Given the description of an element on the screen output the (x, y) to click on. 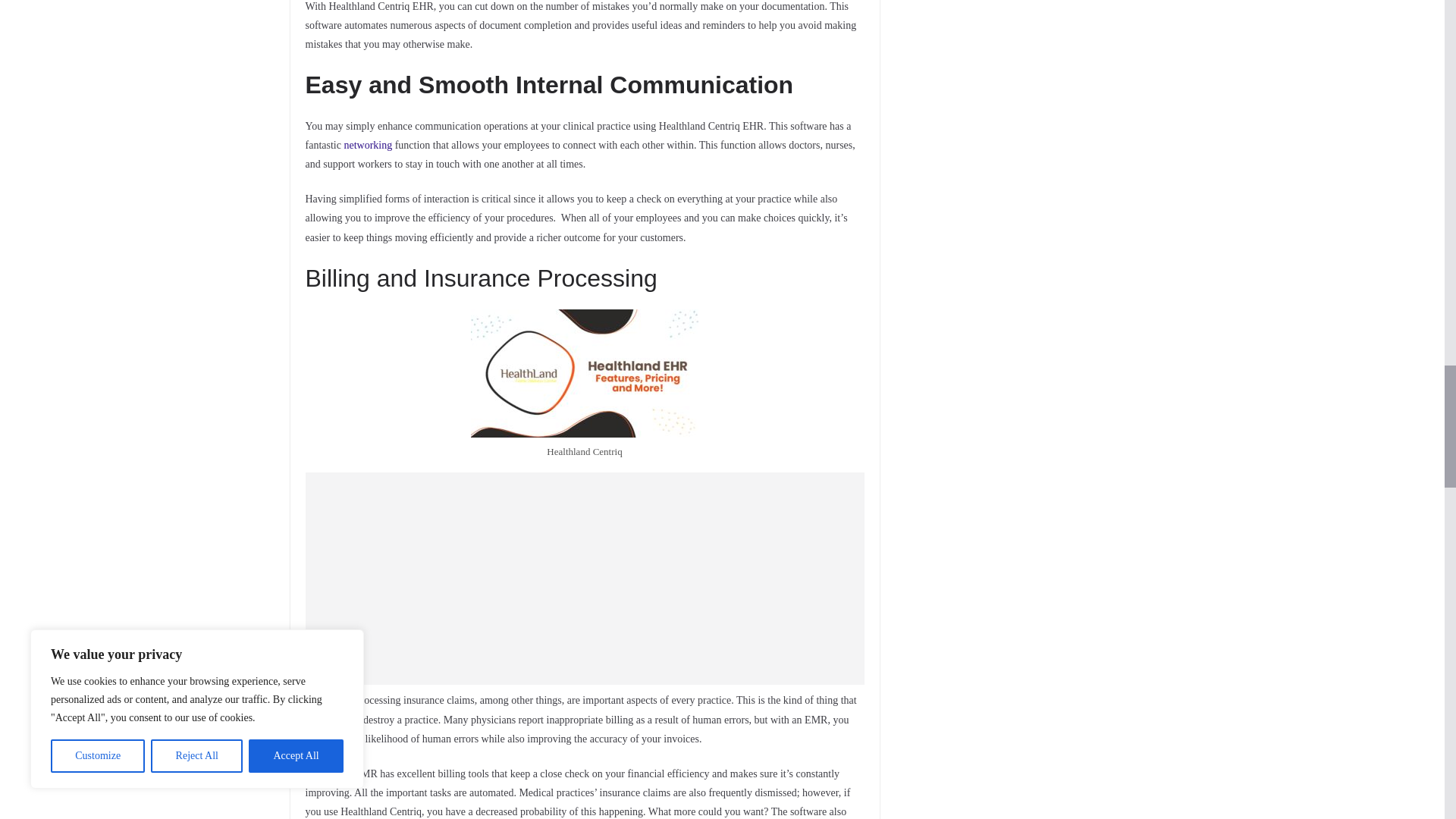
Advertisement (583, 578)
5 Best Features of Healthland Centriq EMR Software In Tech 3 (584, 373)
networking (367, 144)
